Given the description of an element on the screen output the (x, y) to click on. 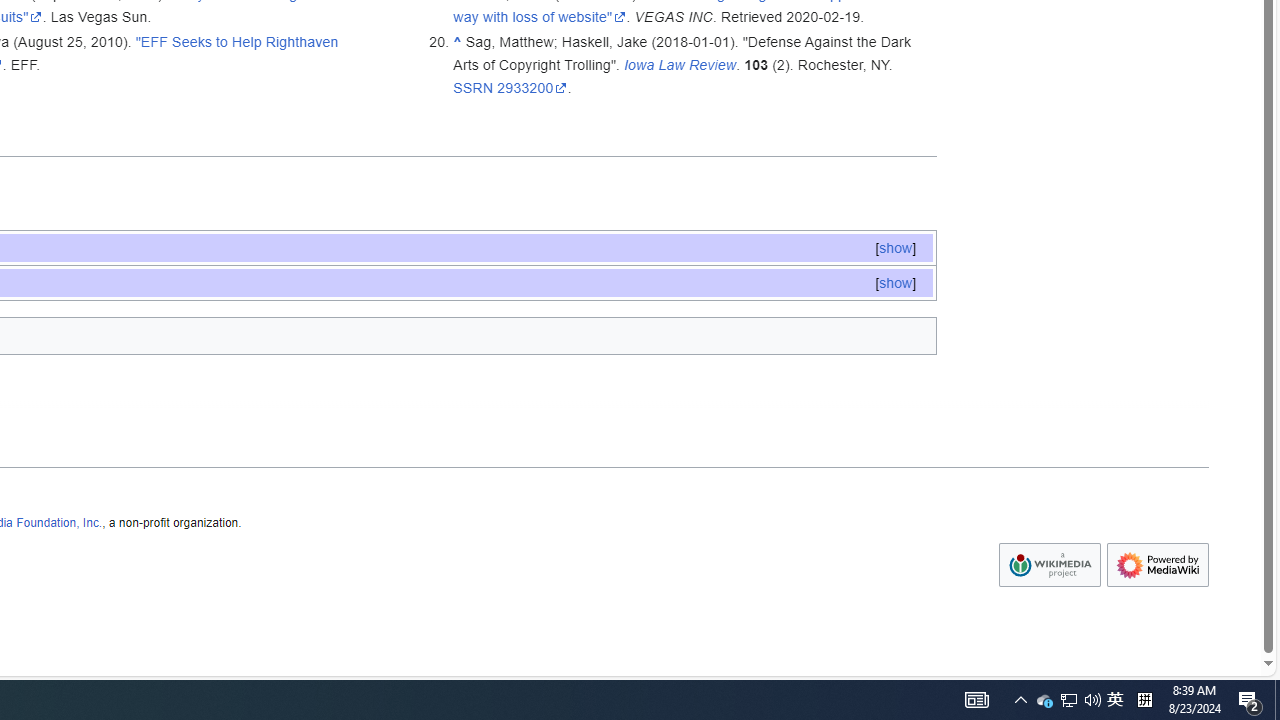
Powered by MediaWiki (1158, 565)
Wikimedia Foundation (1049, 565)
Iowa Law Review (680, 64)
AutomationID: footer-copyrightico (1049, 565)
AutomationID: footer-poweredbyico (1158, 565)
SSRN (473, 87)
[show] (895, 282)
2933200 (532, 87)
Powered by MediaWiki (1158, 565)
Jump up (457, 41)
Wikimedia Foundation (1049, 565)
